Given the description of an element on the screen output the (x, y) to click on. 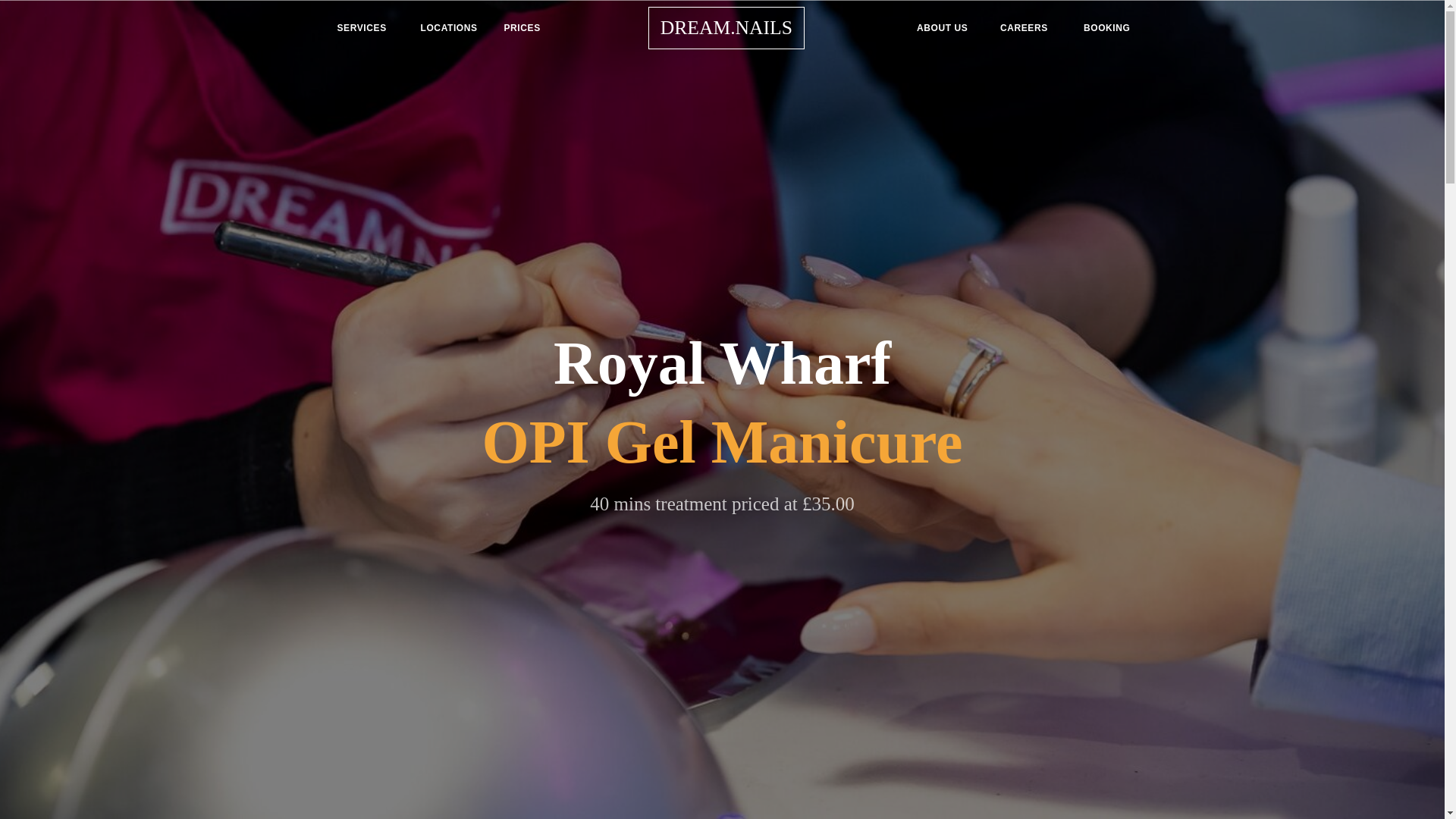
PRICES (533, 27)
BOOKING (1106, 27)
LOCATIONS (449, 27)
DREAM.NAILS (739, 27)
CAREERS (1029, 27)
ABOUT US (946, 27)
SERVICES (365, 27)
